Given the description of an element on the screen output the (x, y) to click on. 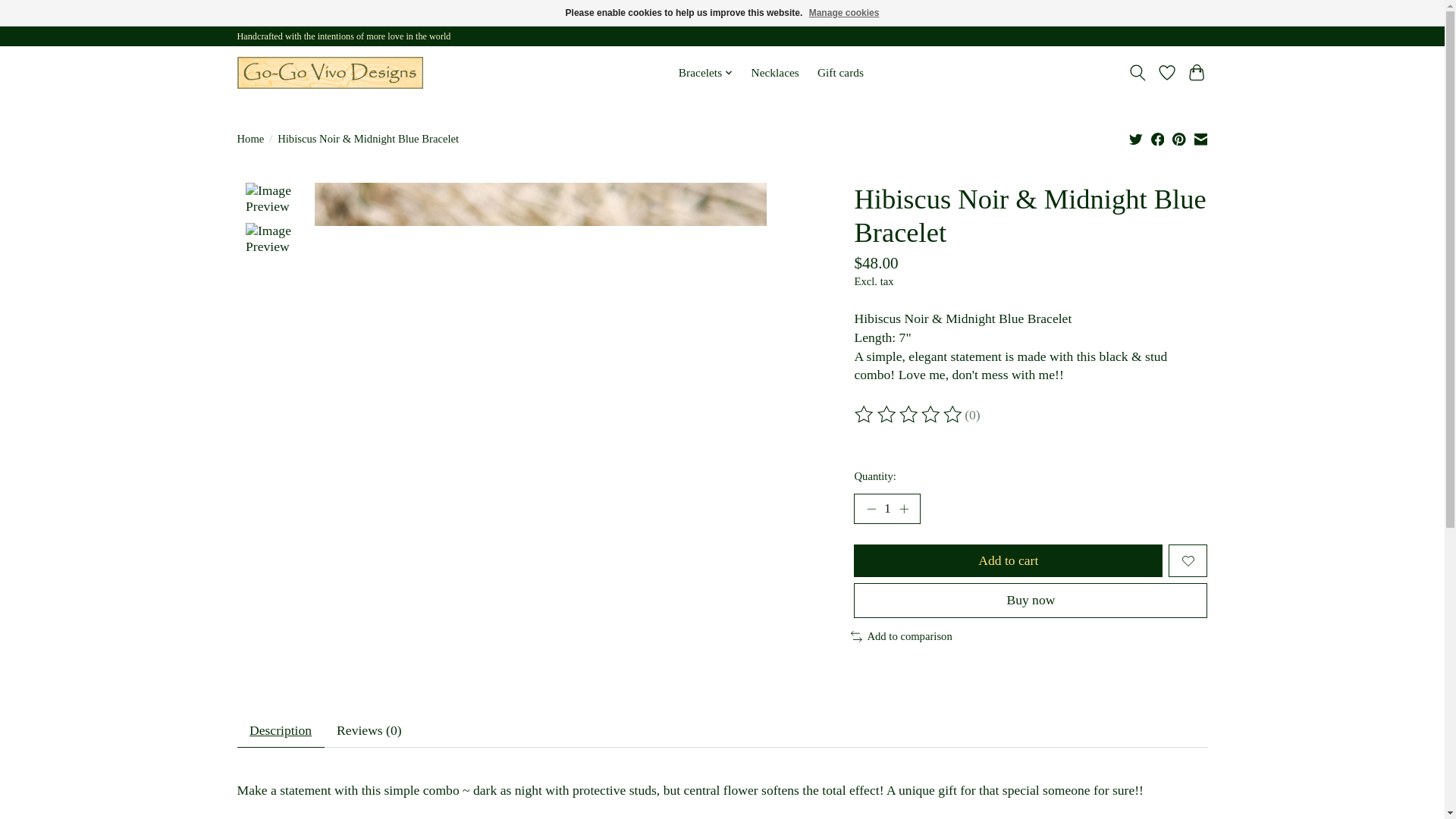
Gift cards (840, 72)
Add to comparison (901, 635)
Leather wrap bracelet (328, 73)
1 (886, 508)
Home (249, 138)
Necklaces (775, 72)
Description (279, 730)
Add to cart (1007, 560)
Bracelets (705, 72)
Buy now (1030, 600)
